Given the description of an element on the screen output the (x, y) to click on. 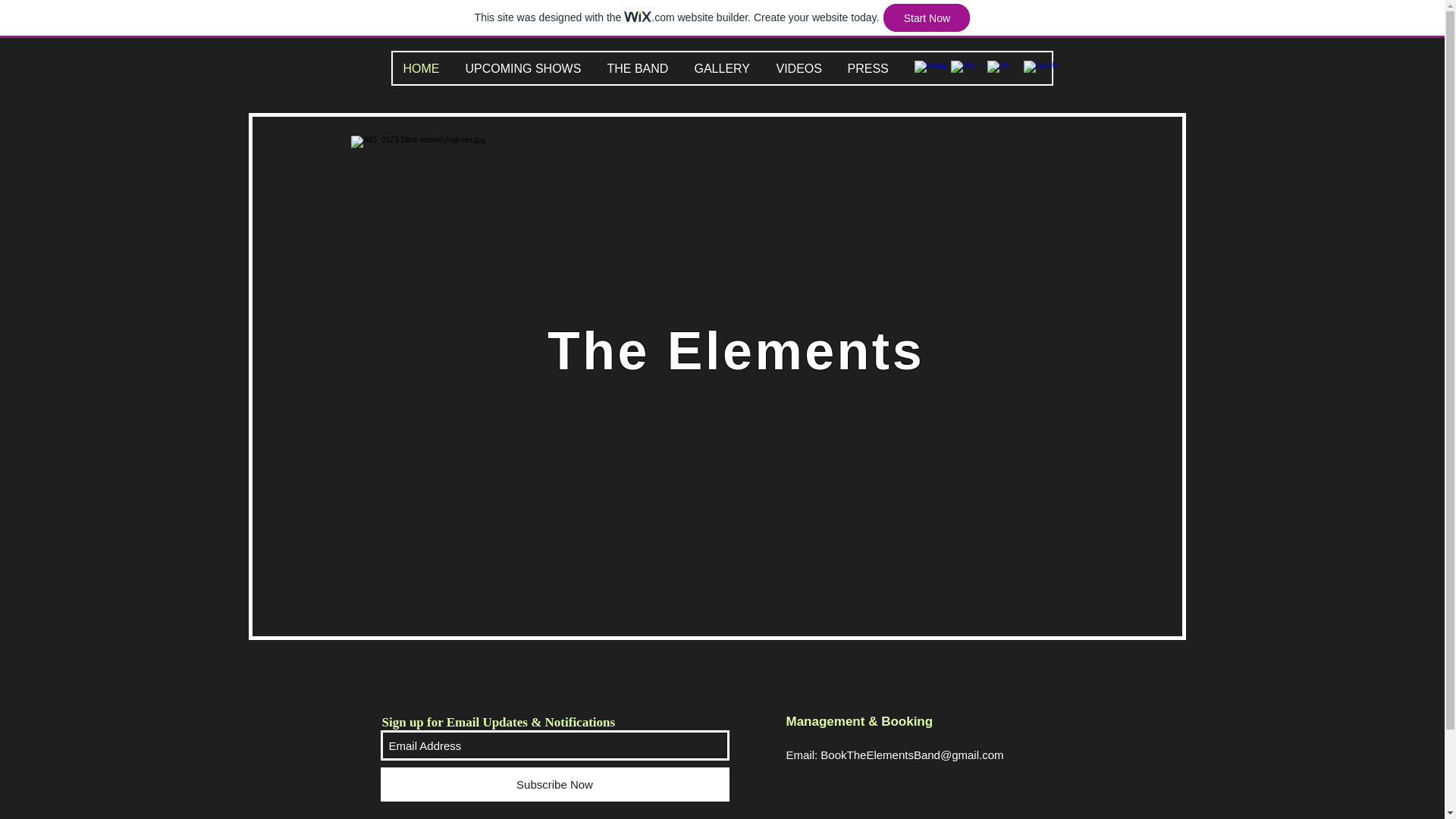
BookTheElementsBand@gmail.com Element type: text (911, 754)
UPCOMING SHOWS Element type: text (528, 67)
HOME Element type: text (426, 67)
The Elements Element type: text (735, 350)
PRESS Element type: text (873, 67)
VIDEOS Element type: text (804, 67)
THE BAND Element type: text (642, 67)
Subscribe Now Element type: text (554, 784)
GALLERY Element type: text (727, 67)
